Given the description of an element on the screen output the (x, y) to click on. 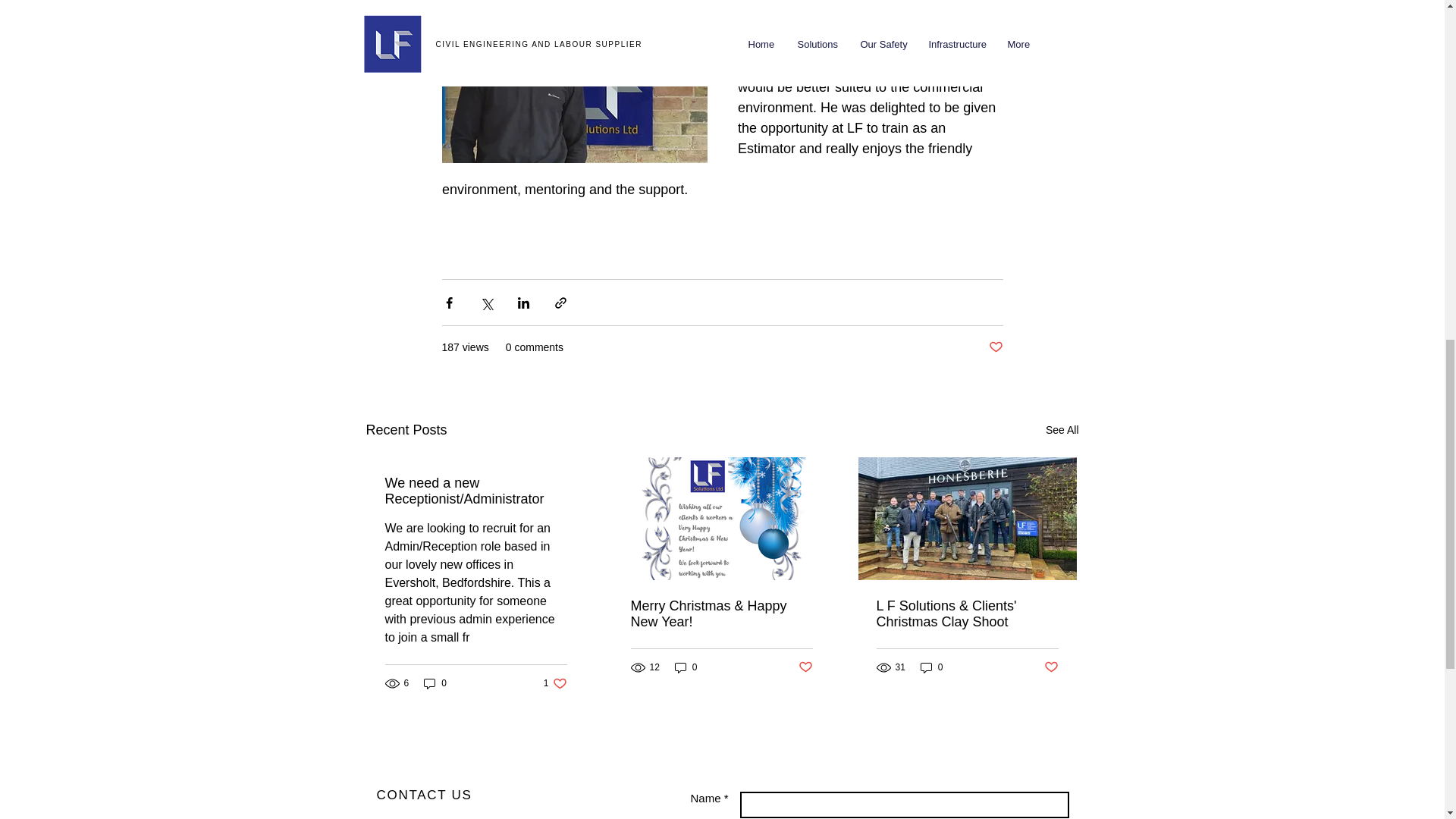
Post not marked as liked (995, 347)
0 (435, 683)
Post not marked as liked (804, 667)
See All (555, 683)
0 (1061, 430)
